Given the description of an element on the screen output the (x, y) to click on. 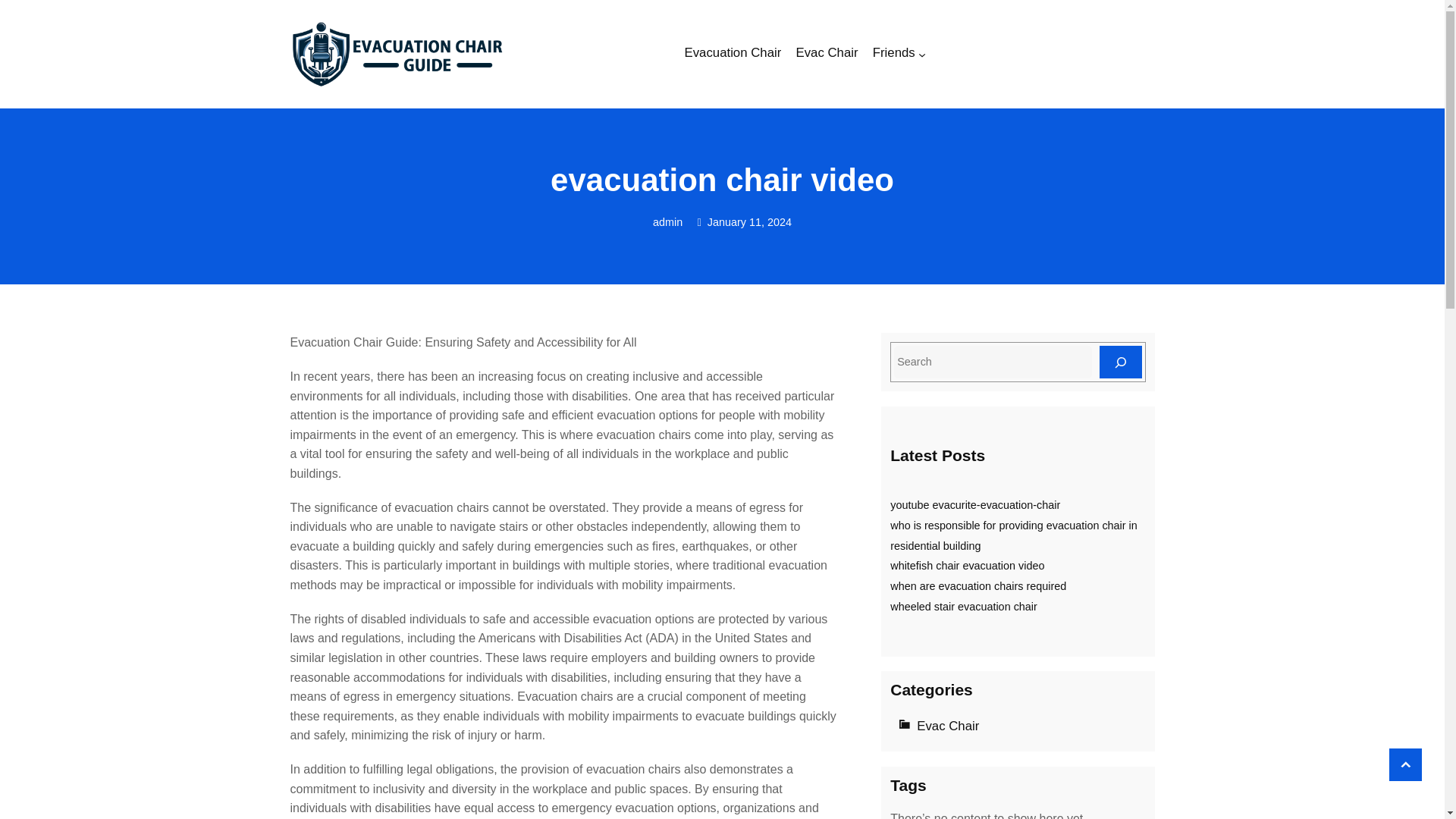
January 11, 2024 (749, 222)
wheeled stair evacuation chair (962, 606)
admin (667, 222)
Evac Chair (947, 726)
Friends (893, 54)
Evacuation Chair (732, 54)
whitefish chair evacuation video (966, 565)
when are evacuation chairs required (977, 585)
Evac Chair (825, 54)
youtube evacurite-evacuation-chair (974, 504)
